Given the description of an element on the screen output the (x, y) to click on. 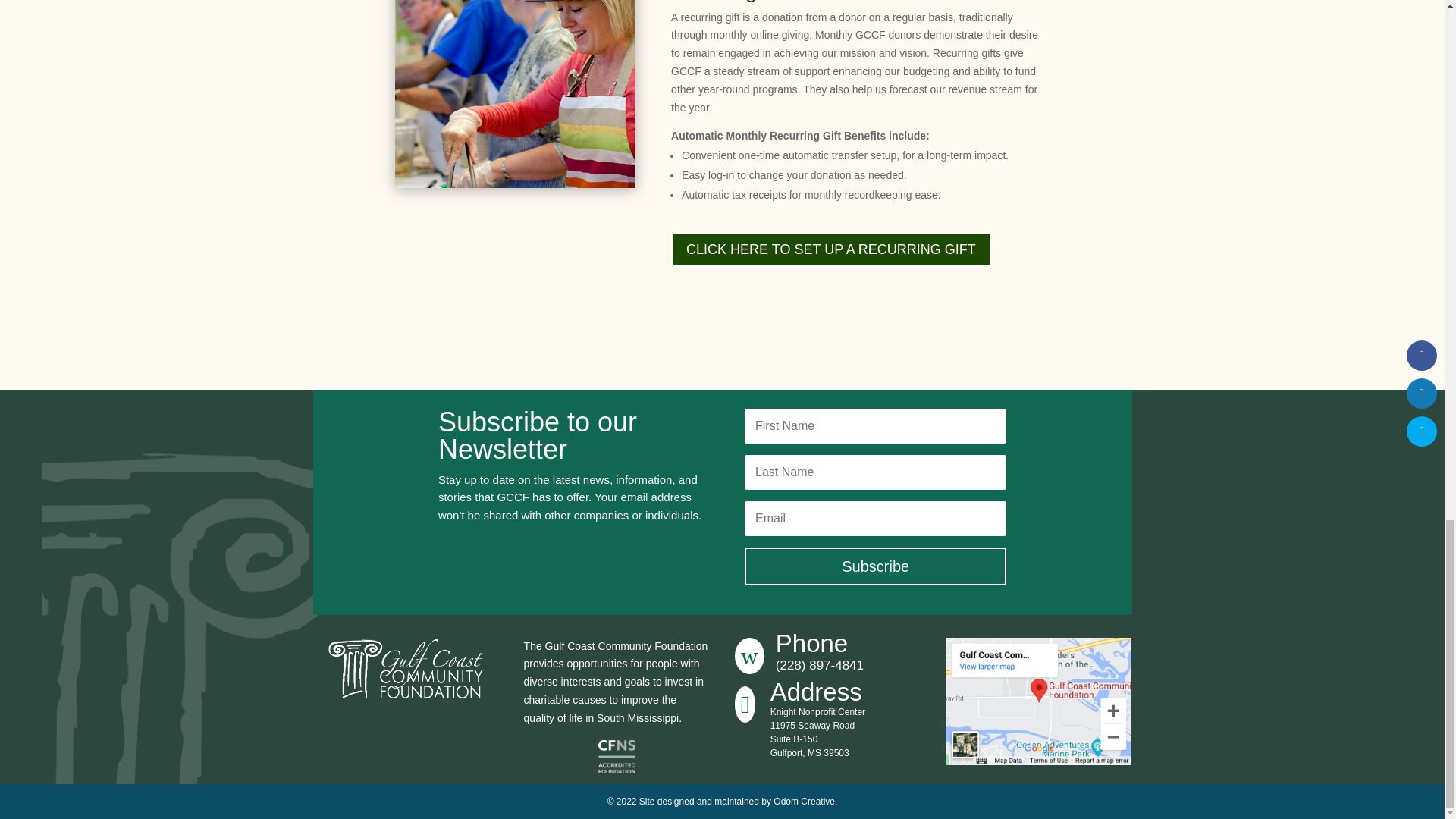
map (1038, 700)
CLICK HERE TO SET UP A RECURRING GIFT (831, 248)
Subscribe (875, 566)
cfns (616, 756)
serving-food (514, 94)
